Given the description of an element on the screen output the (x, y) to click on. 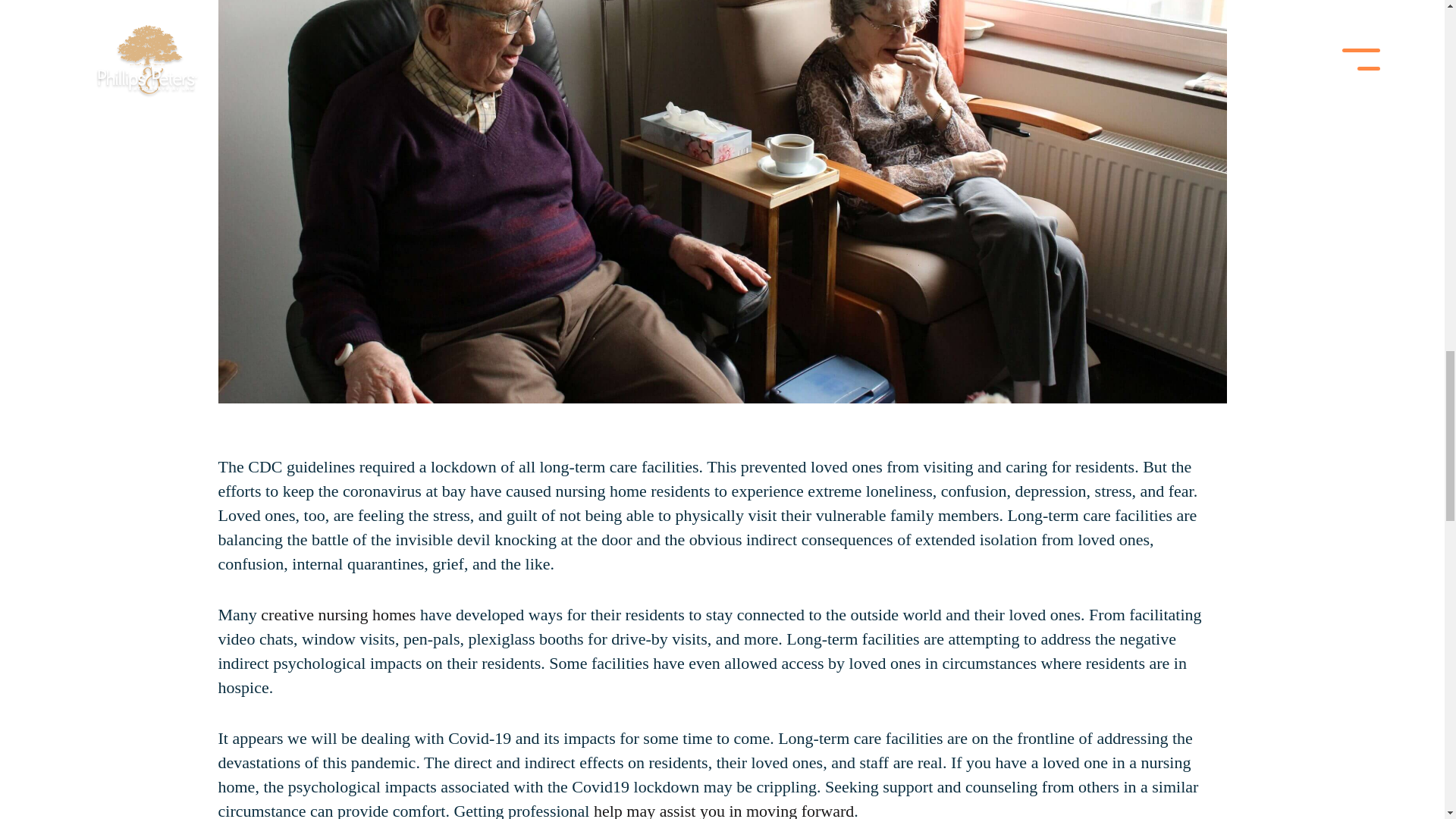
creative nursing homes (337, 614)
help may assist you in moving forward (723, 810)
